Given the description of an element on the screen output the (x, y) to click on. 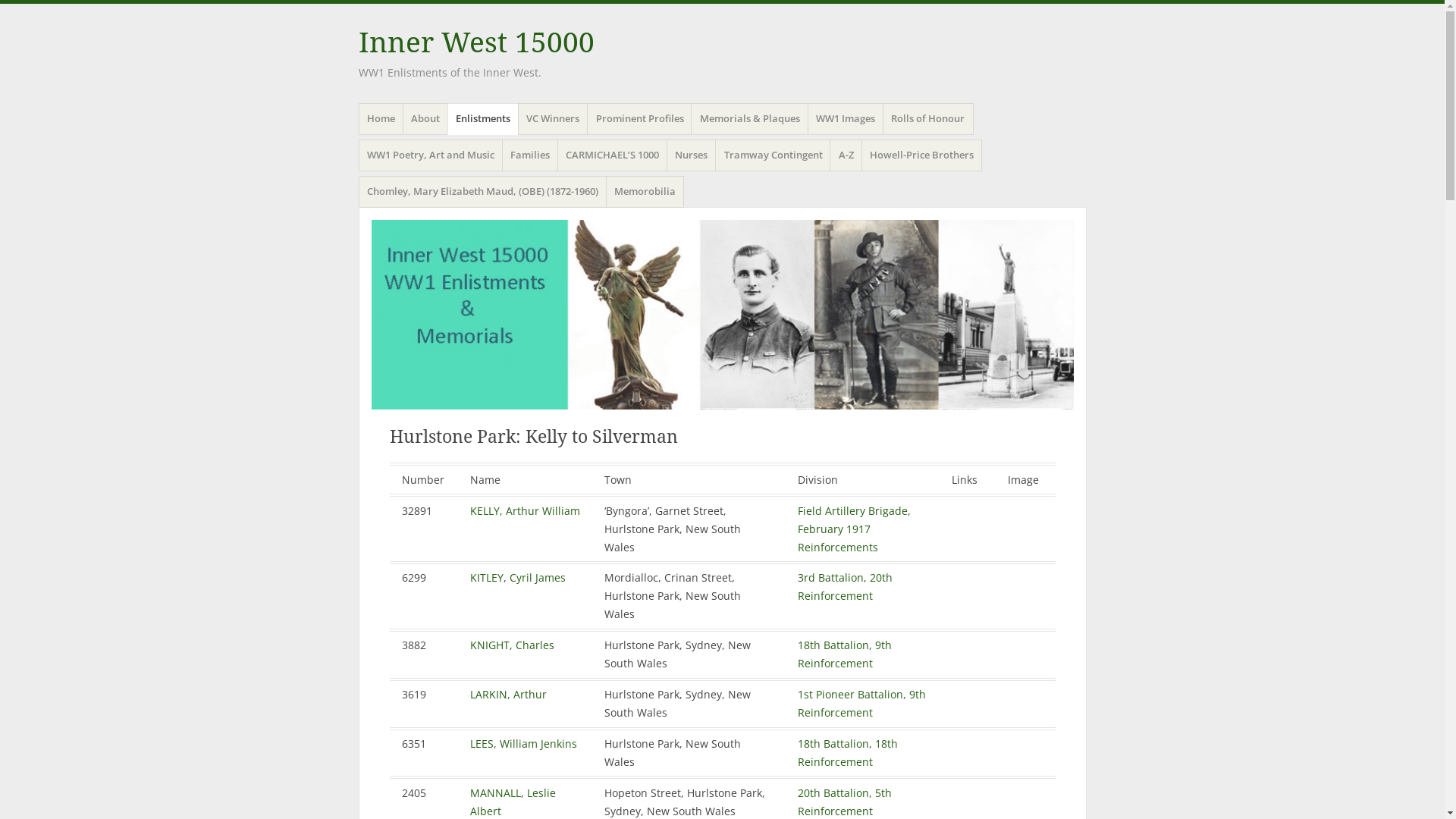
KELLY, Arthur William Element type: text (525, 510)
18th Battalion, 9th Reinforcement Element type: text (844, 653)
Howell-Price Brothers Element type: text (921, 155)
Families Element type: text (530, 155)
WW1 Images Element type: text (845, 118)
Skip to content Element type: text (357, 124)
About Element type: text (425, 118)
Tramway Contingent Element type: text (773, 155)
3rd Battalion, 20th Reinforcement Element type: text (844, 586)
1st Pioneer Battalion, 9th Reinforcement Element type: text (861, 703)
Inner West 15000 Element type: hover (722, 314)
20th Battalion, 5th Reinforcement Element type: text (844, 801)
Home Element type: text (380, 118)
VC Winners Element type: text (552, 118)
Nurses Element type: text (691, 155)
Memorobilia Element type: text (644, 191)
LEES, William Jenkins Element type: text (523, 743)
Chomley, Mary Elizabeth Maud, (OBE) (1872-1960) Element type: text (481, 191)
Prominent Profiles Element type: text (639, 118)
MANNALL, Leslie Albert Element type: text (512, 801)
Memorials & Plaques Element type: text (749, 118)
18th Battalion, 18th Reinforcement Element type: text (847, 752)
LARKIN, Arthur Element type: text (508, 694)
KNIGHT, Charles Element type: text (512, 644)
Enlistments Element type: text (483, 118)
Inner West 15000 Element type: text (475, 42)
KITLEY, Cyril James Element type: text (517, 577)
WW1 Poetry, Art and Music Element type: text (429, 155)
Rolls of Honour Element type: text (927, 118)
Field Artillery Brigade, February 1917 Reinforcements Element type: text (853, 528)
A-Z Element type: text (845, 155)
